Given the description of an element on the screen output the (x, y) to click on. 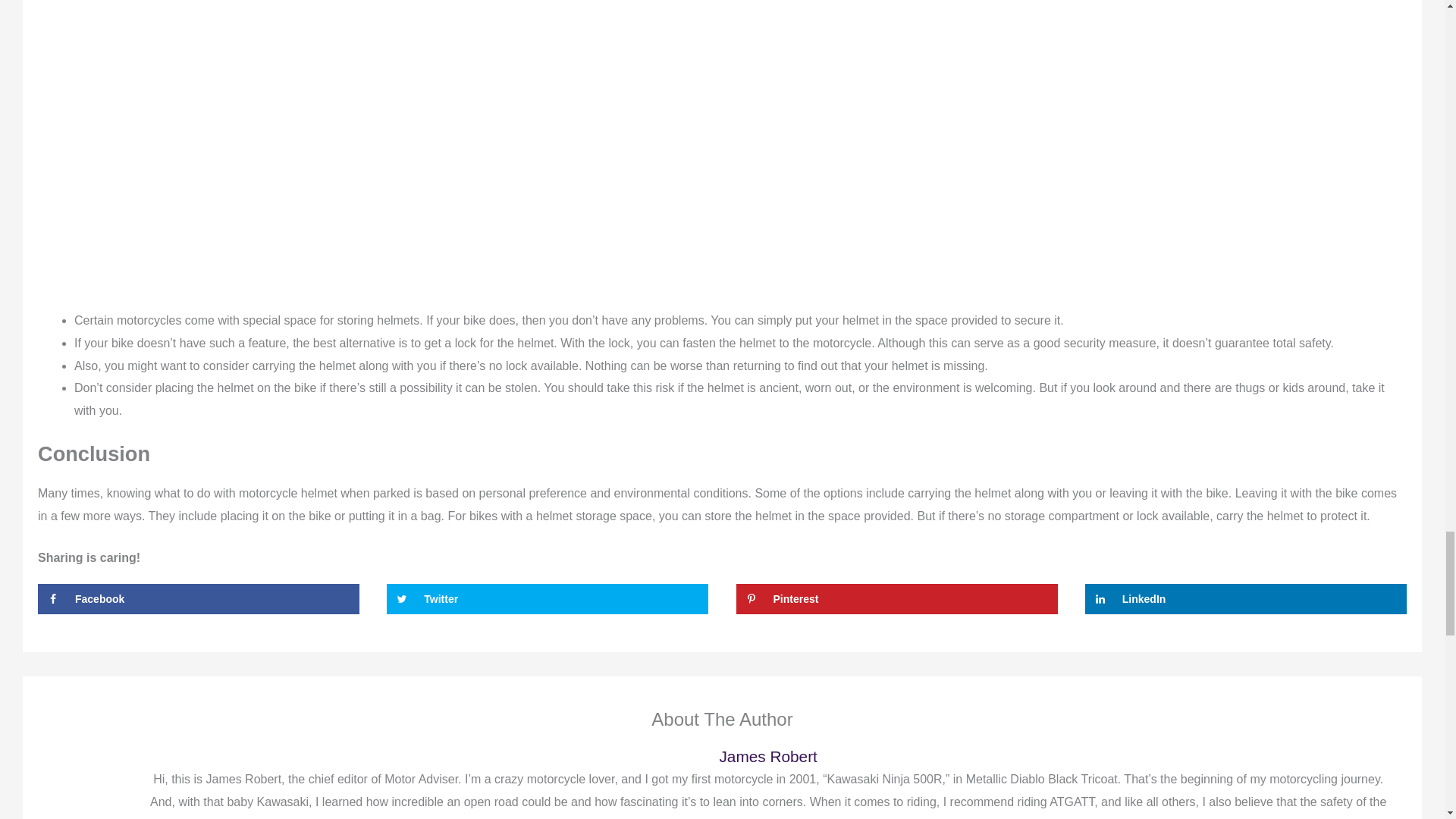
Share on Facebook (198, 598)
Pinterest (897, 598)
Share on Twitter (547, 598)
James Robert (767, 756)
Twitter (547, 598)
Facebook (198, 598)
LinkedIn (1245, 598)
Save to Pinterest (897, 598)
Share on LinkedIn (1245, 598)
